Given the description of an element on the screen output the (x, y) to click on. 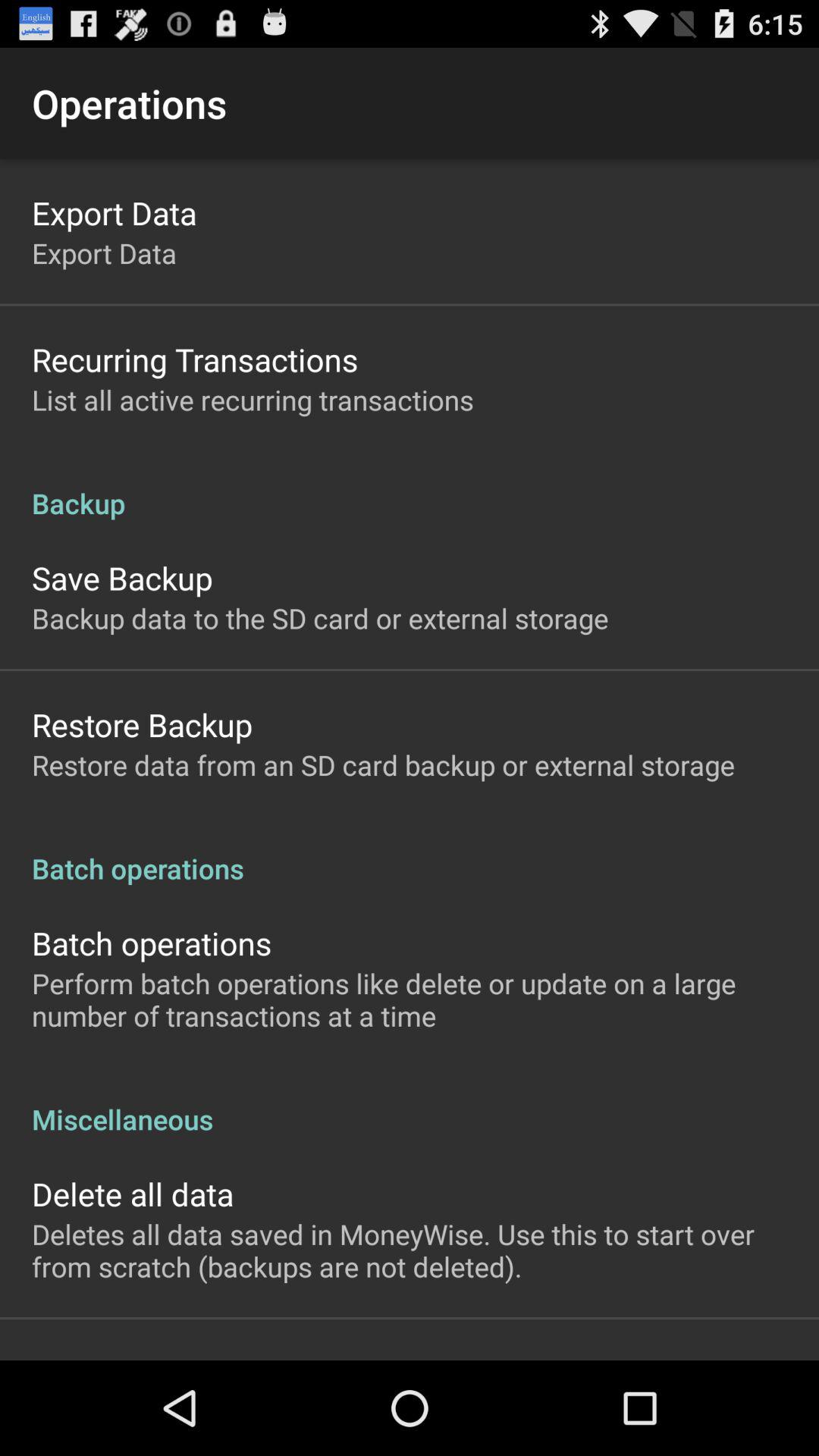
scroll until list all active item (252, 399)
